Given the description of an element on the screen output the (x, y) to click on. 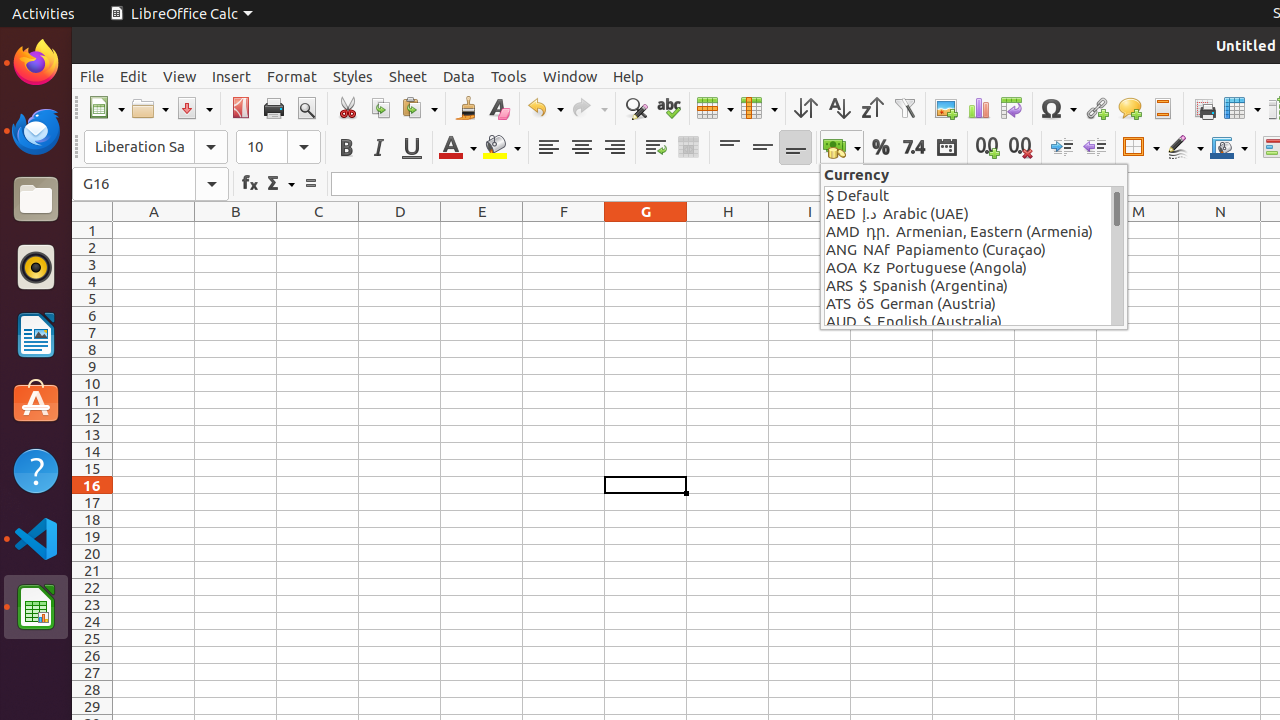
Copy Element type: push-button (380, 108)
Data Element type: menu (459, 76)
Add Decimal Place Element type: push-button (987, 147)
Print Element type: push-button (273, 108)
G1 Element type: table-cell (646, 230)
